Given the description of an element on the screen output the (x, y) to click on. 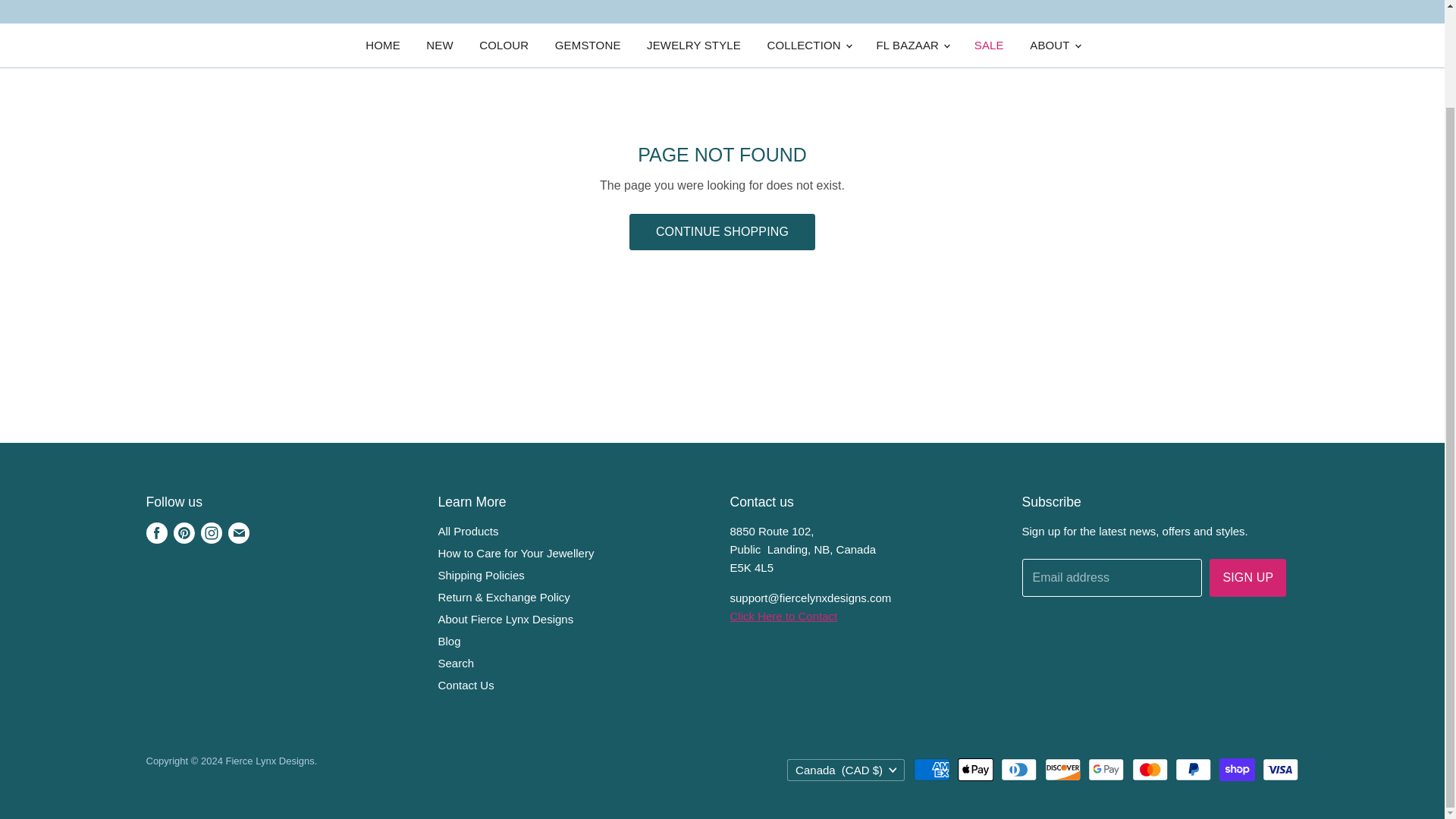
SALE (988, 45)
Facebook (156, 533)
Pinterest (183, 533)
COLLECTION (808, 45)
E-mail (237, 533)
Instagram (210, 533)
FL BAZAAR (911, 45)
GEMSTONE (587, 45)
JEWELRY STYLE (693, 45)
ABOUT (1053, 45)
